Given the description of an element on the screen output the (x, y) to click on. 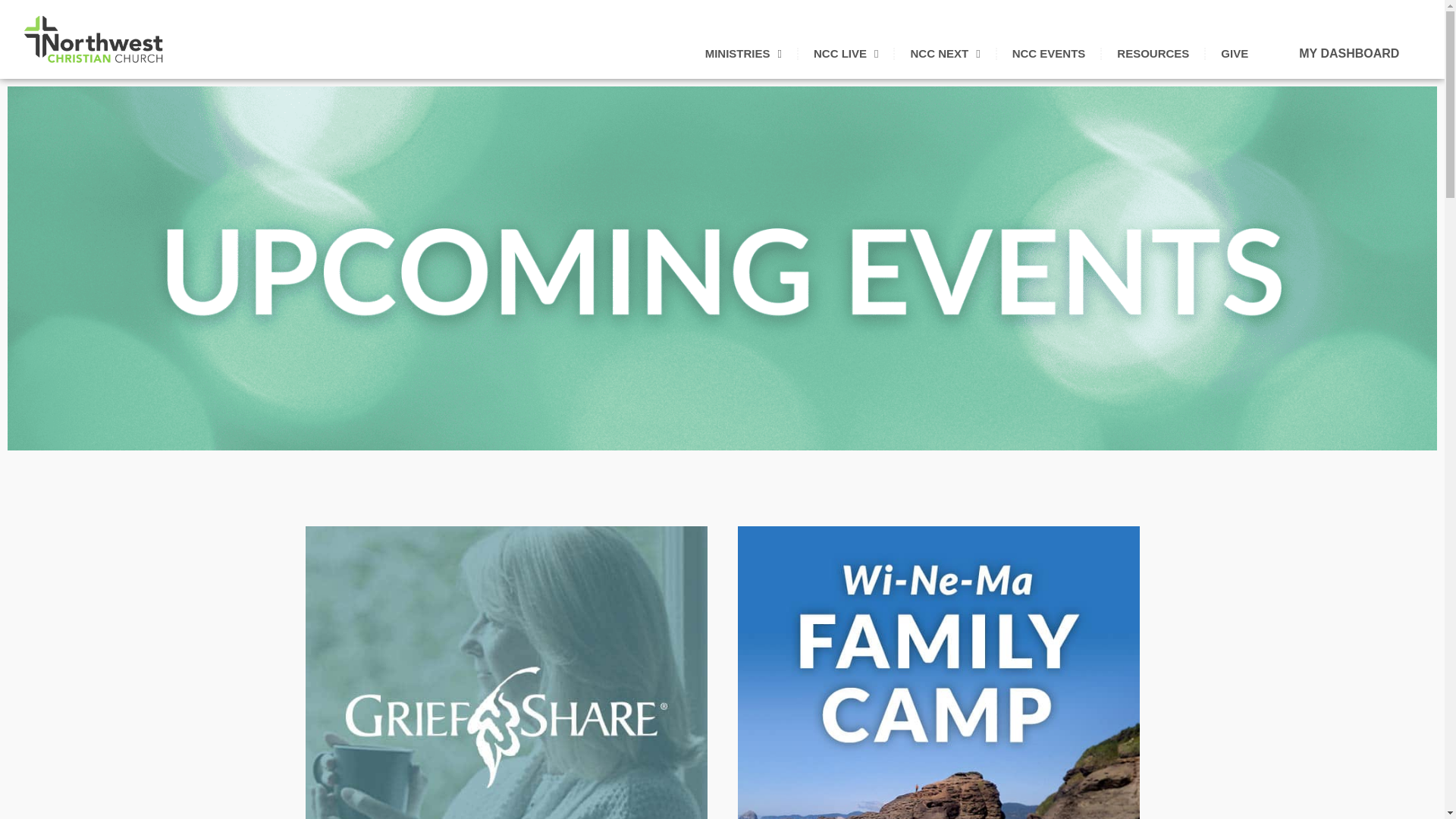
RESOURCES (1153, 53)
NCC LIVE (845, 53)
NCC NEXT (944, 53)
GIVE (1234, 53)
NCC EVENTS (1048, 53)
MINISTRIES (743, 53)
